Given the description of an element on the screen output the (x, y) to click on. 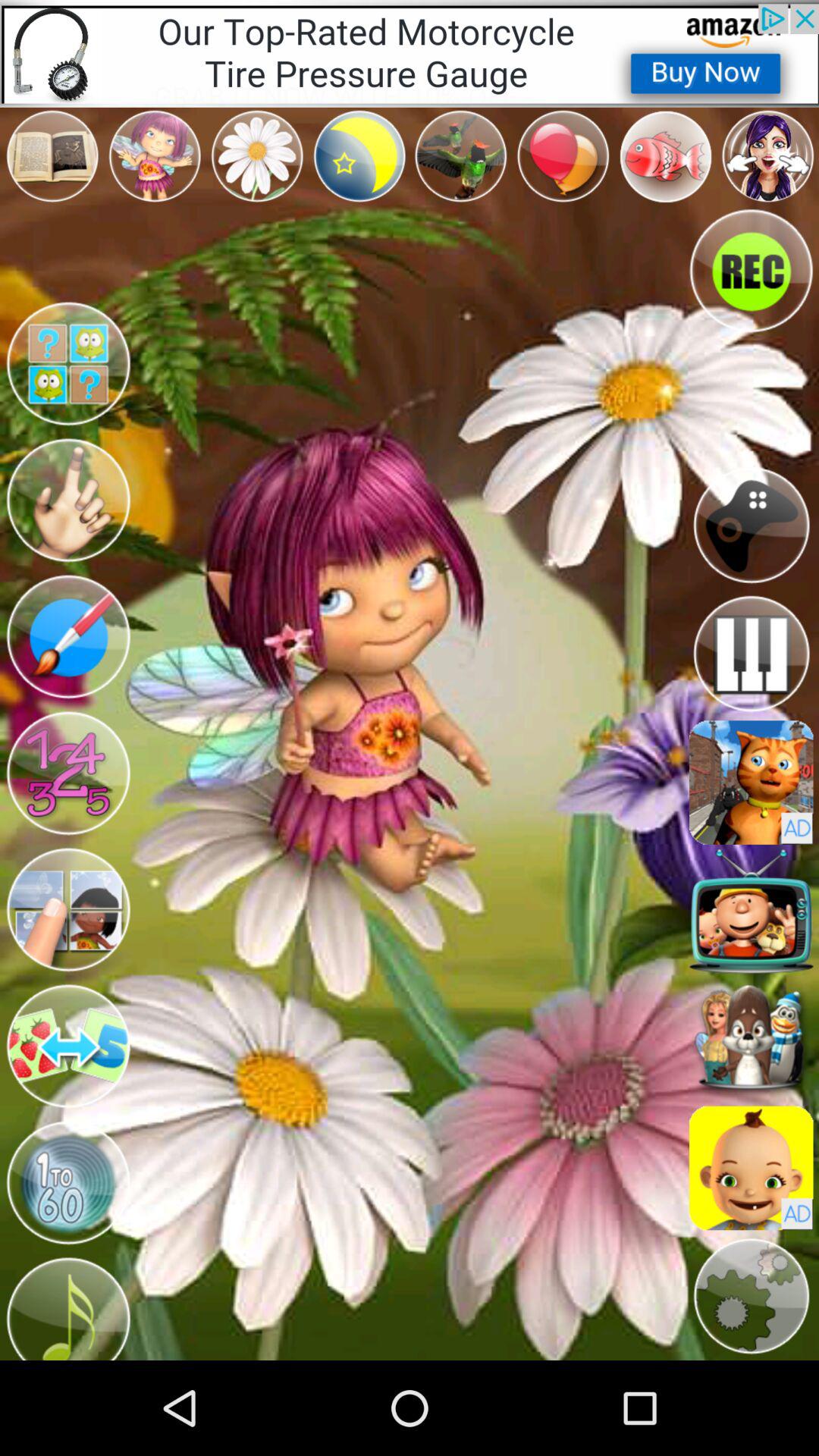
go to the game settings (751, 1296)
